Given the description of an element on the screen output the (x, y) to click on. 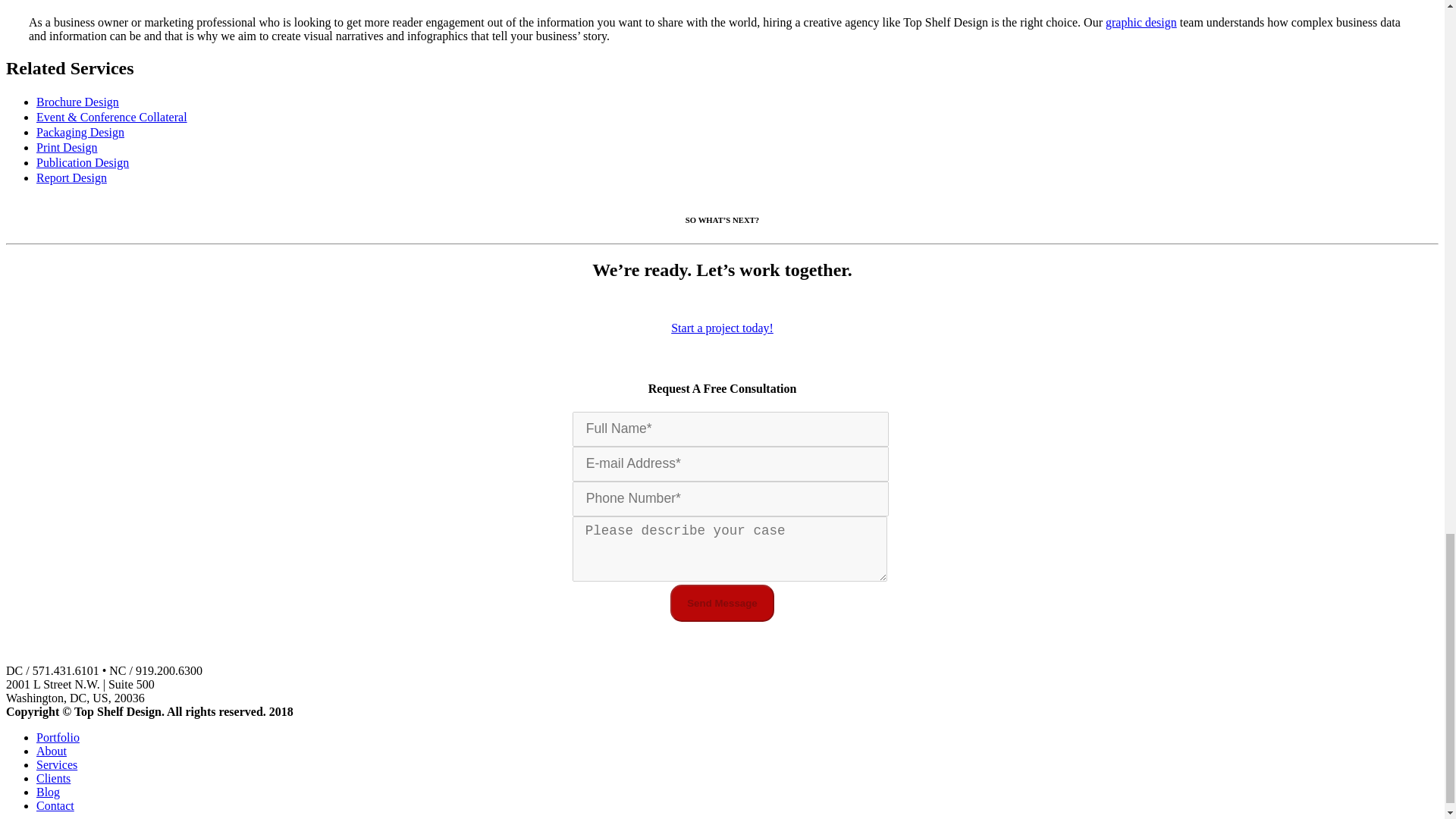
Print Design (72, 146)
Publication Design (88, 162)
Packaging Design (86, 132)
Print Design (72, 146)
Click to Submit (721, 602)
Brochure Design (83, 101)
graphic design (1140, 21)
Brochure Design (83, 101)
Report Design (77, 177)
Packaging Design (86, 132)
